Given the description of an element on the screen output the (x, y) to click on. 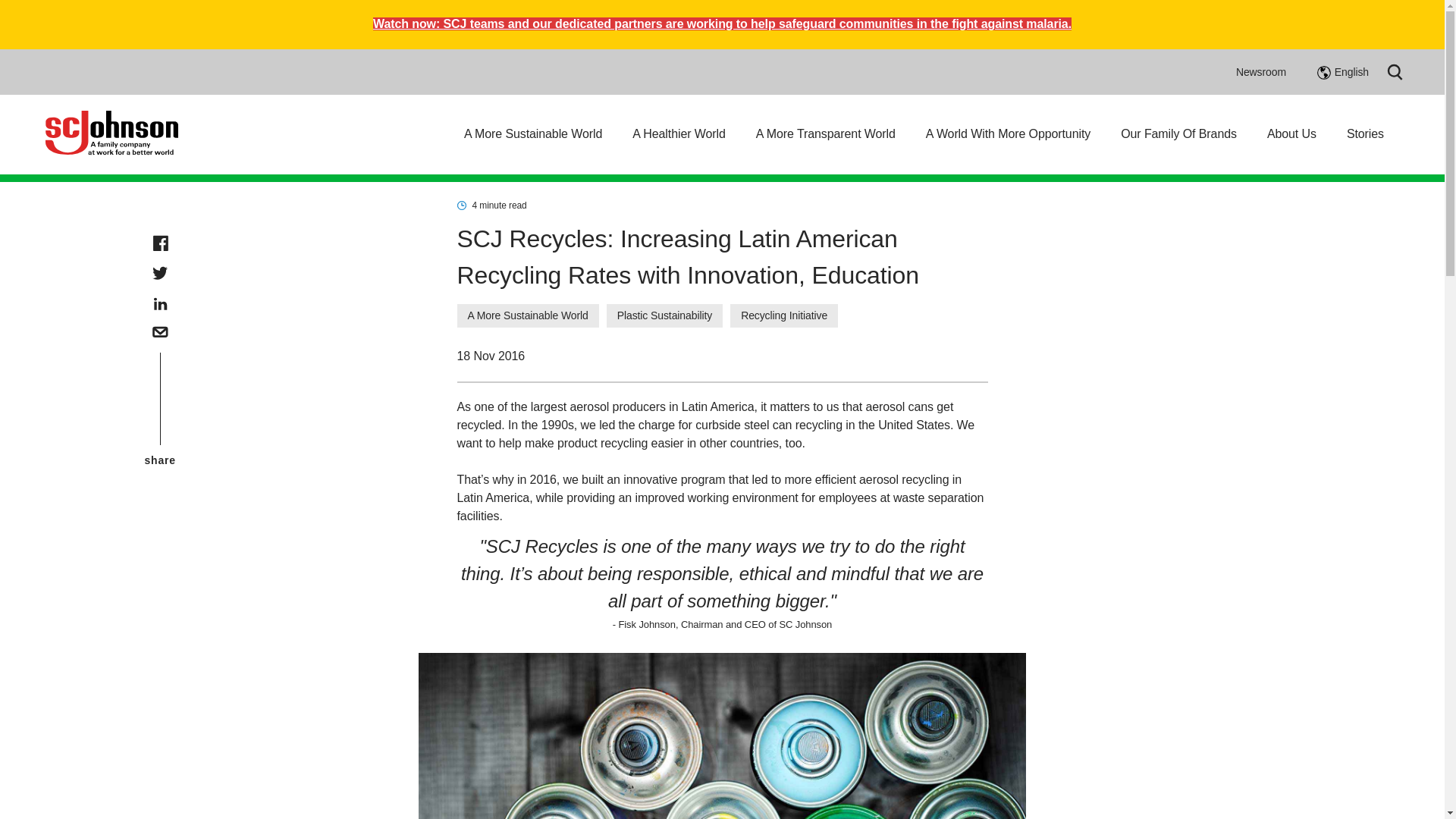
Aerosol Cans (722, 735)
English (1342, 72)
A More Sustainable World (533, 133)
Newsroom (1260, 71)
A More Transparent World (825, 133)
A Healthier World (678, 133)
